Given the description of an element on the screen output the (x, y) to click on. 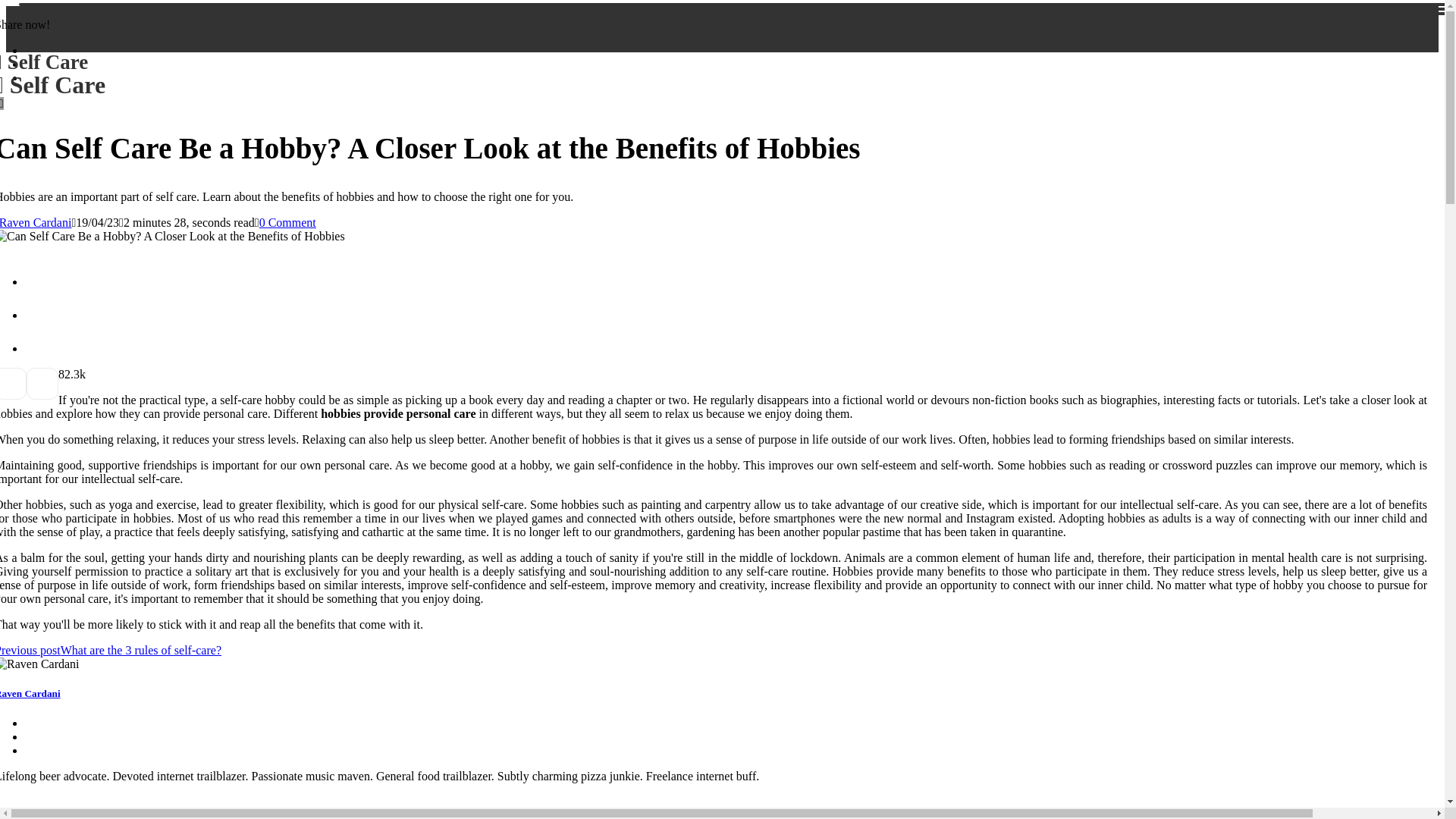
Raven Cardani (30, 693)
Raven Cardani (35, 222)
0 Comment (287, 222)
Like (61, 373)
Previous postWhat are the 3 rules of self-care? (110, 649)
Posts by Raven Cardani (52, 74)
8 (35, 222)
